Given the description of an element on the screen output the (x, y) to click on. 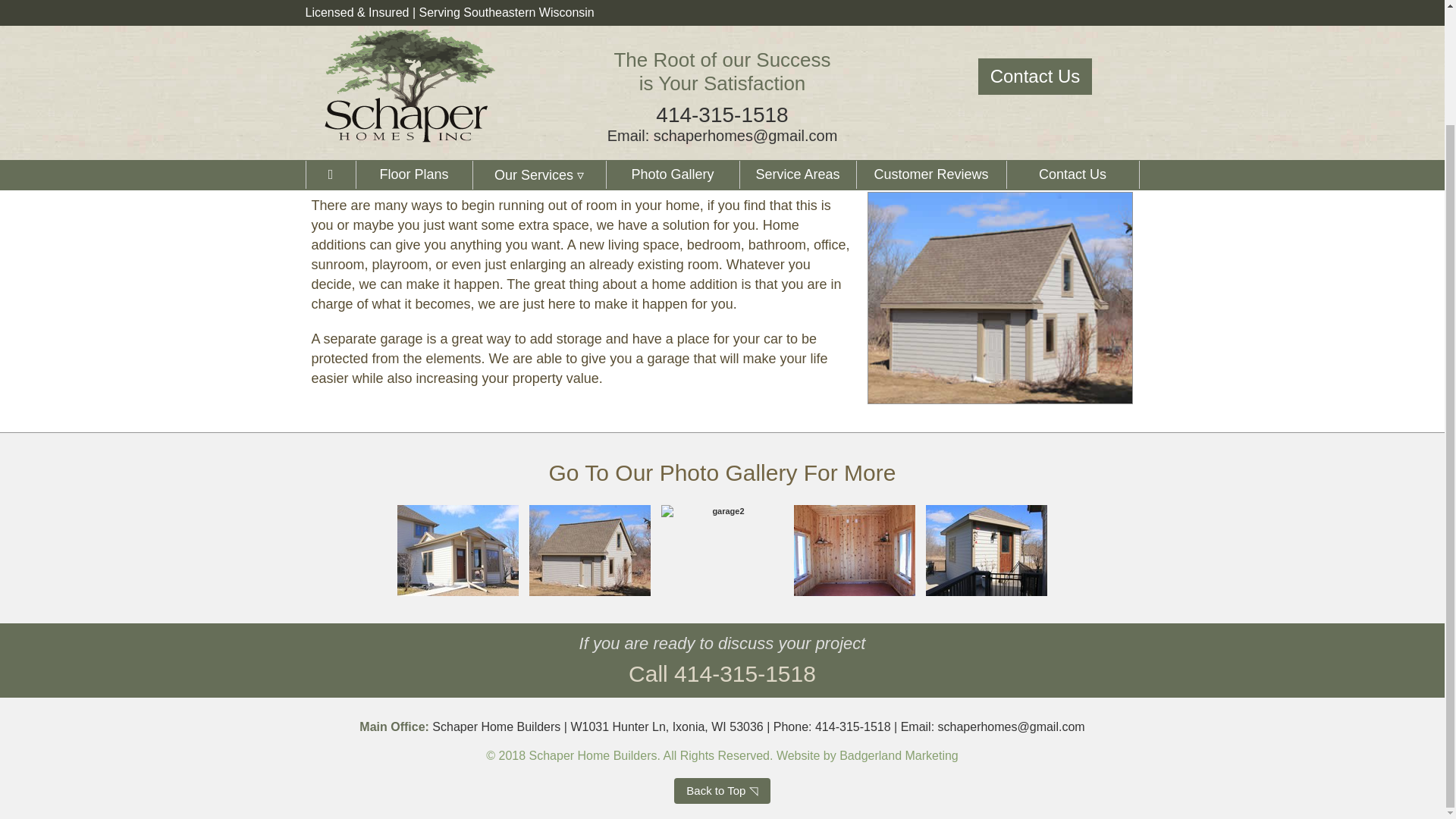
Contact Us (1072, 38)
Customer Reviews (931, 38)
Photo Gallery (728, 472)
Home Construction and Building (409, 2)
Floor Plans (413, 38)
Contact Schaper Homes Inc (1072, 38)
Schaper Homes Inc (329, 38)
Floor Plans (671, 38)
Client Reviews for Schaper Homes Inc (931, 38)
Wisconsin Service Areas (797, 38)
